Given the description of an element on the screen output the (x, y) to click on. 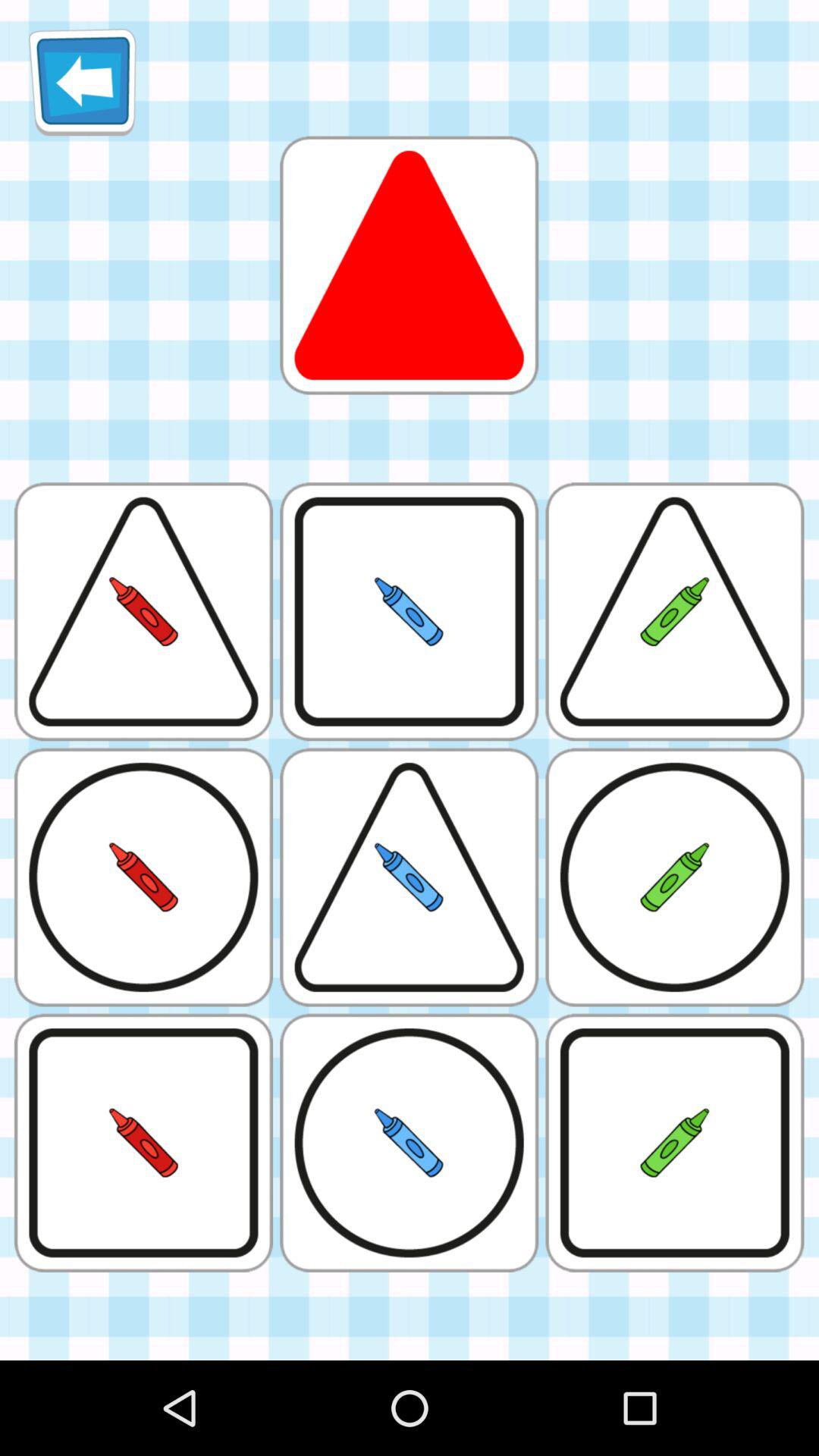
go back (82, 82)
